Given the description of an element on the screen output the (x, y) to click on. 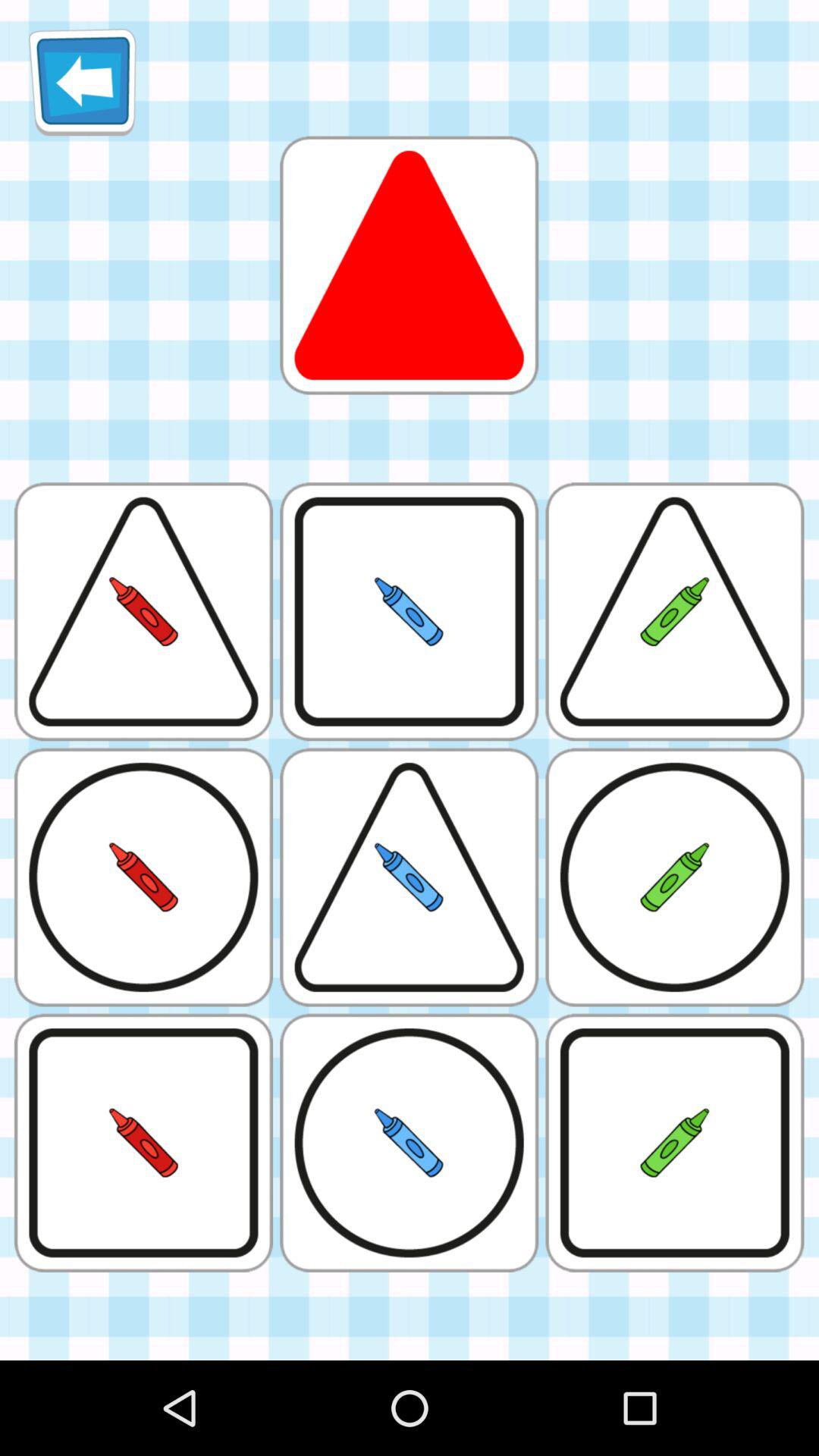
go back (82, 82)
